Given the description of an element on the screen output the (x, y) to click on. 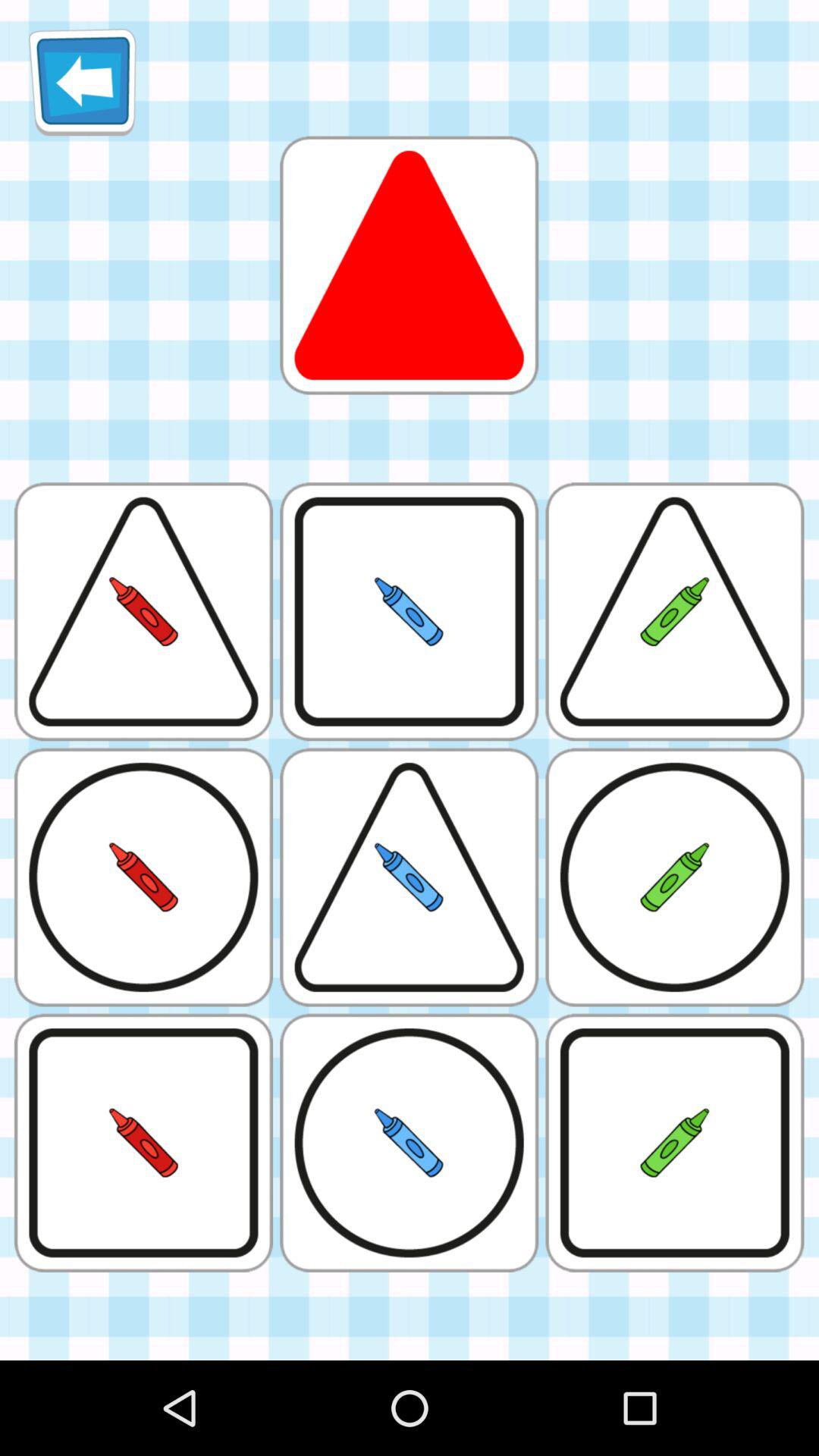
go back (82, 82)
